Given the description of an element on the screen output the (x, y) to click on. 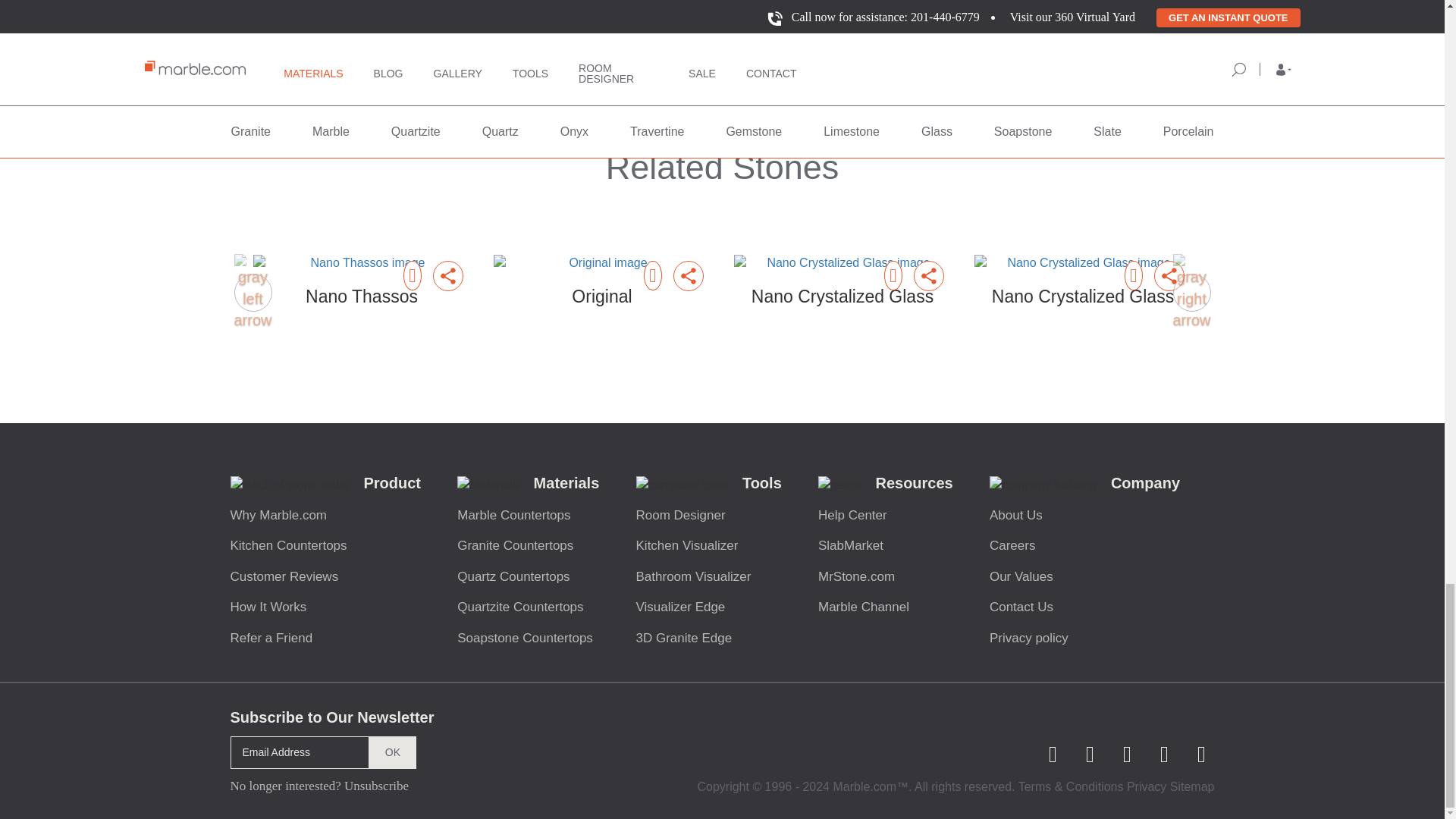
Original (601, 261)
share to friends (687, 276)
Nano Thassos (361, 261)
Nano Crystalized Glass (842, 296)
Original (601, 296)
Nano Thassos (361, 296)
Nano Crystalized Glass (842, 261)
share to friends (1169, 276)
Nano Crystalized Glass (1082, 261)
share to friends (927, 276)
